Given the description of an element on the screen output the (x, y) to click on. 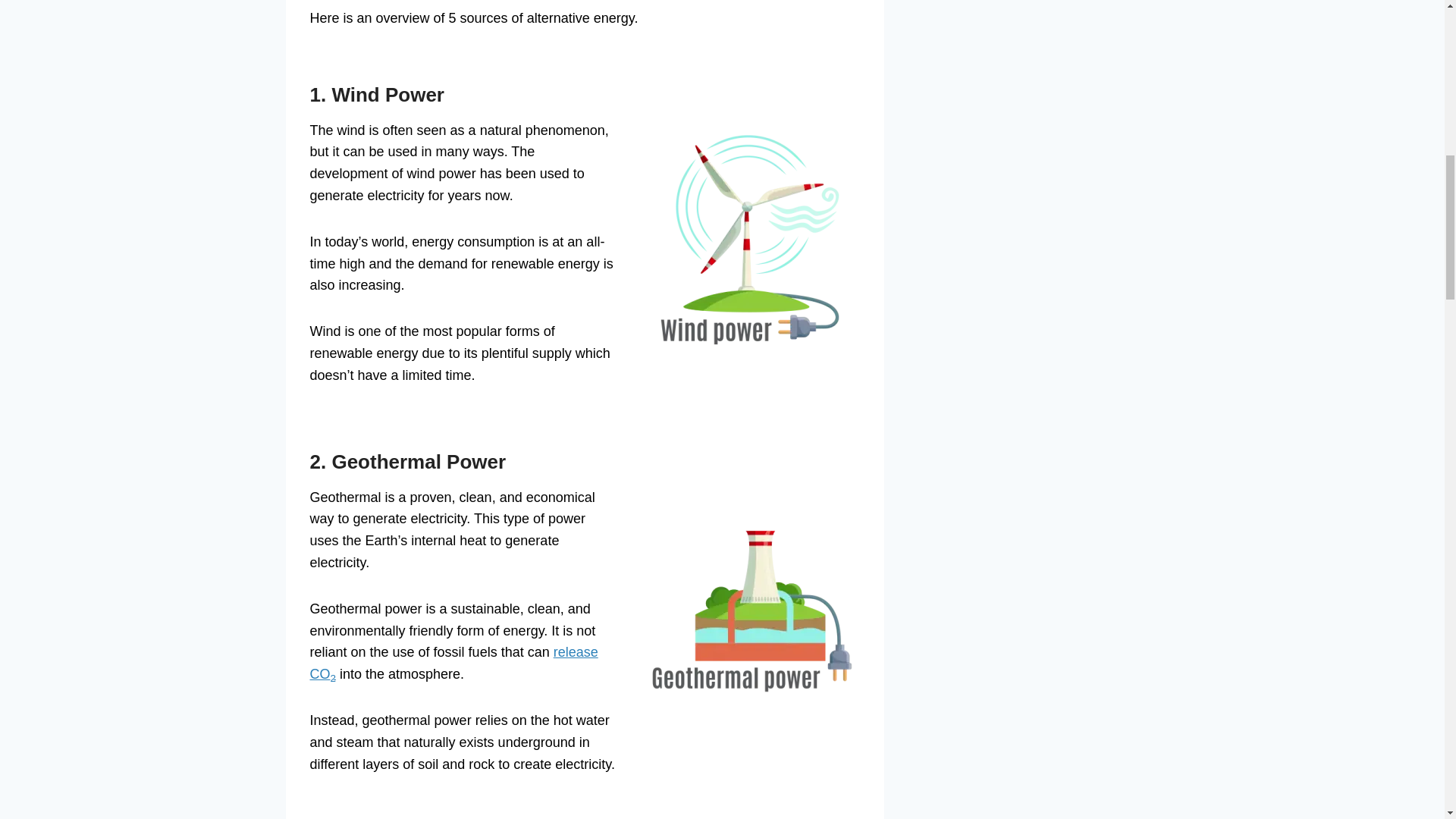
release CO2 (452, 662)
